Given the description of an element on the screen output the (x, y) to click on. 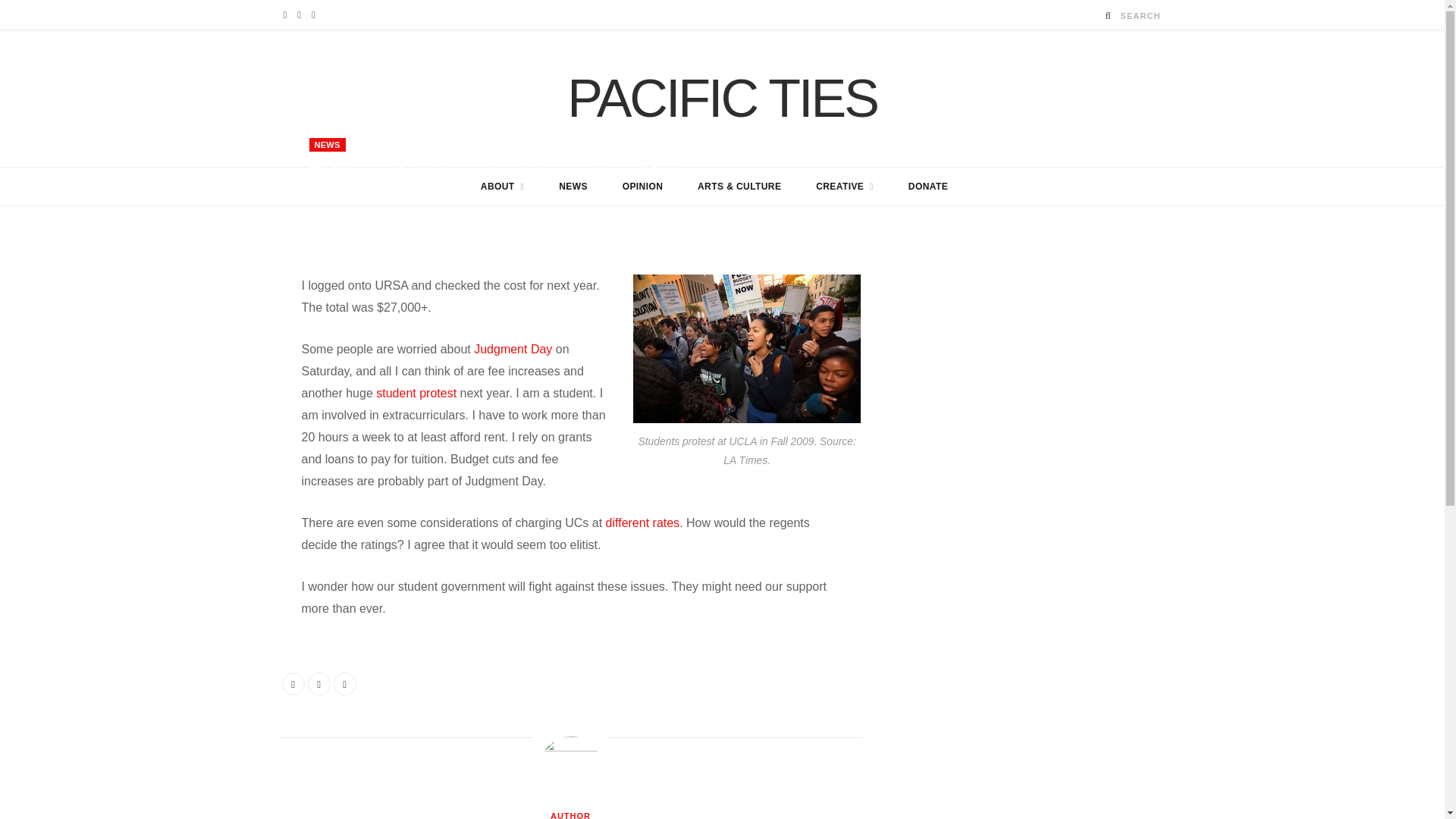
DONATE (927, 186)
CREATIVE (844, 186)
Share on Twitter (1106, 200)
Pacific Ties (722, 98)
NEWS (327, 144)
Judgment Day (512, 349)
Share on Facebook (293, 683)
PACIFIC TIES (722, 98)
MAY 20, 2011 (436, 203)
OPINION (643, 186)
